Given the description of an element on the screen output the (x, y) to click on. 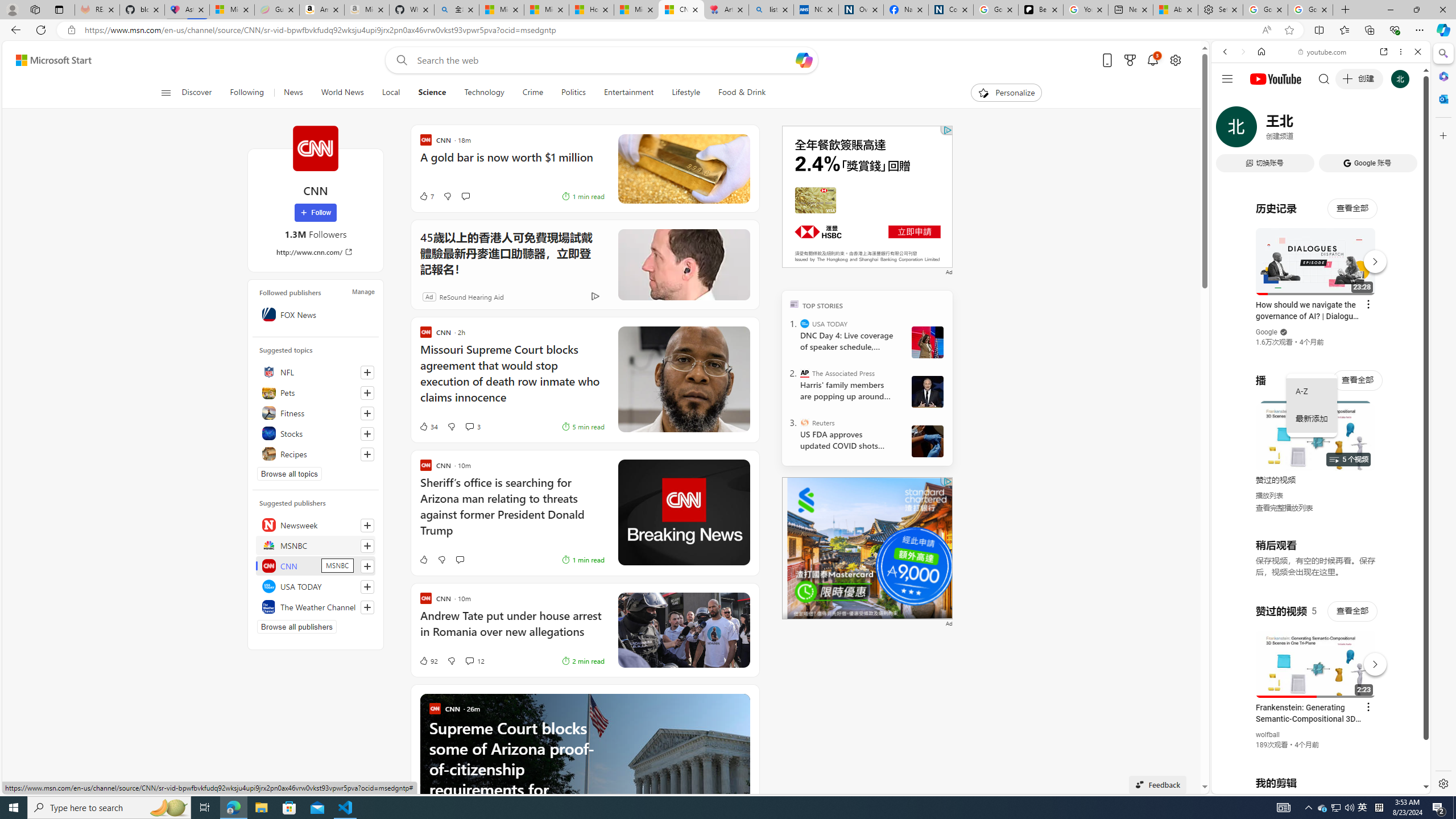
34 Like (427, 426)
Google (1266, 331)
CNN (314, 148)
7 Like (425, 196)
Manage (362, 291)
